Given the description of an element on the screen output the (x, y) to click on. 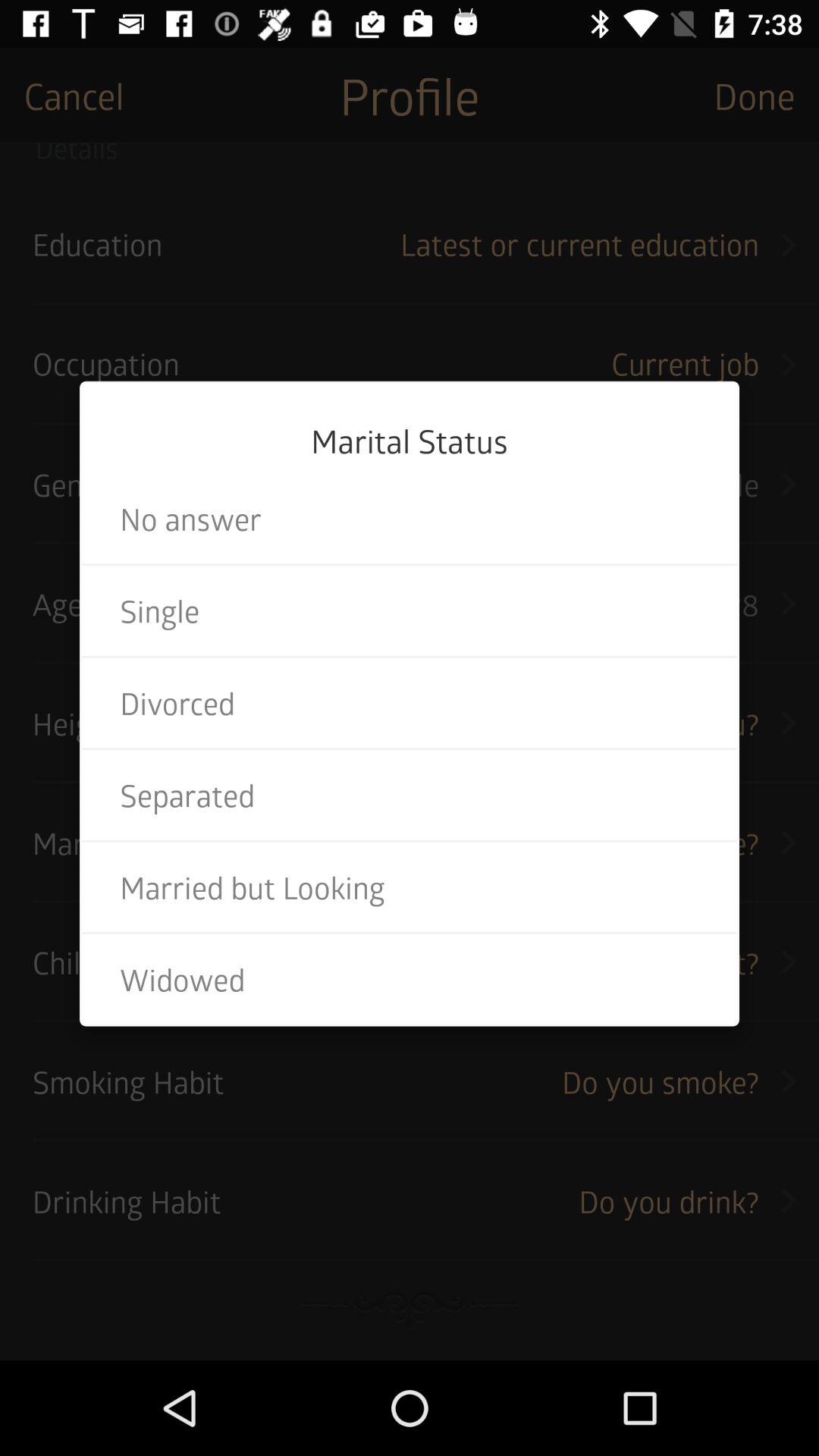
jump until widowed (409, 979)
